Given the description of an element on the screen output the (x, y) to click on. 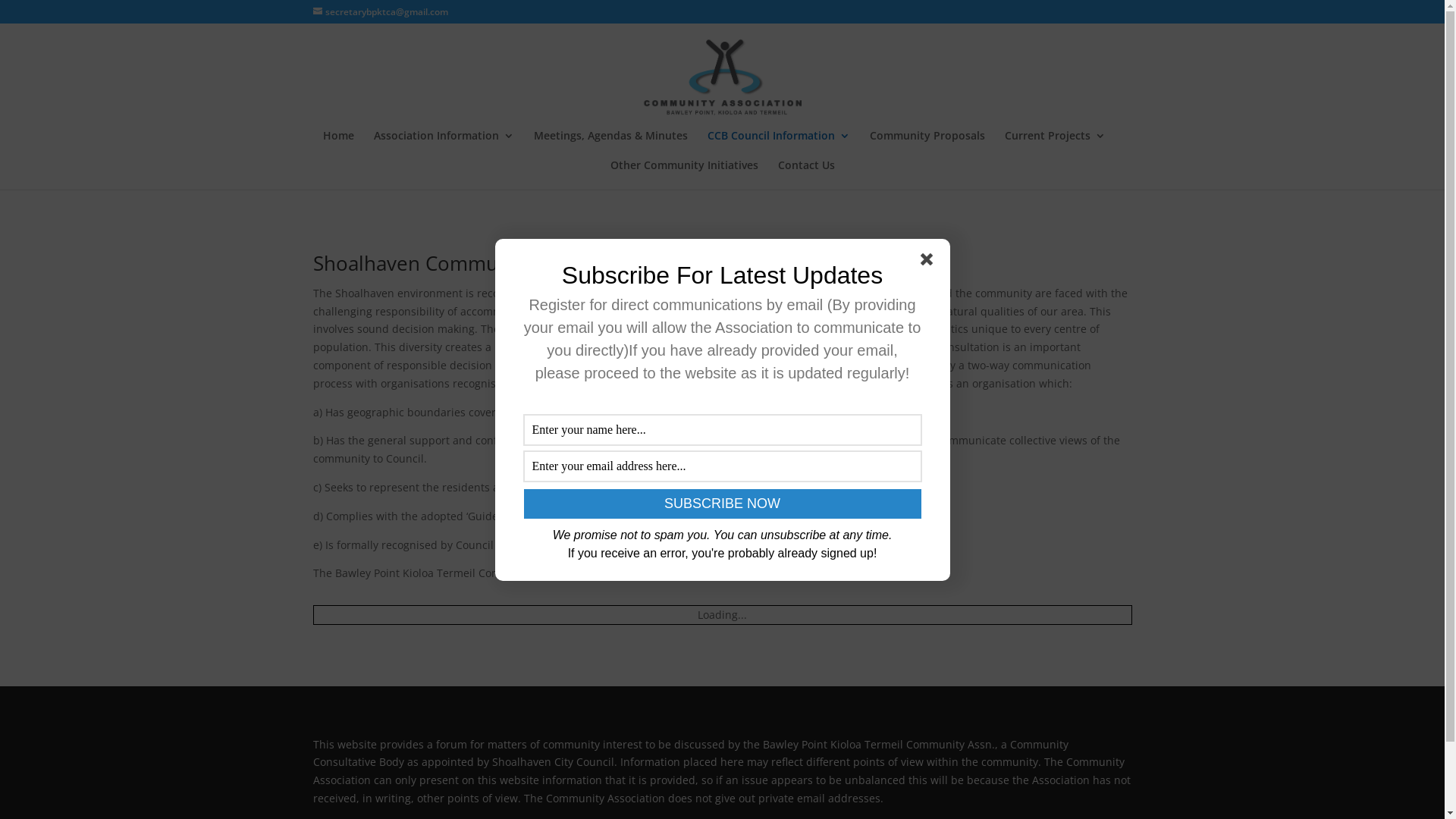
Community Proposals Element type: text (926, 145)
Subscribe Now Element type: text (721, 502)
Current Projects Element type: text (1054, 145)
Home Element type: text (338, 145)
secretarybpktca@gmail.com Element type: text (379, 11)
Contact Us Element type: text (806, 174)
Close optin form Element type: hover (929, 262)
Other Community Initiatives Element type: text (683, 174)
Association Information Element type: text (443, 145)
CCB Council Information Element type: text (777, 145)
Meetings, Agendas & Minutes Element type: text (610, 145)
Take Action Now! Element type: text (225, 14)
